Given the description of an element on the screen output the (x, y) to click on. 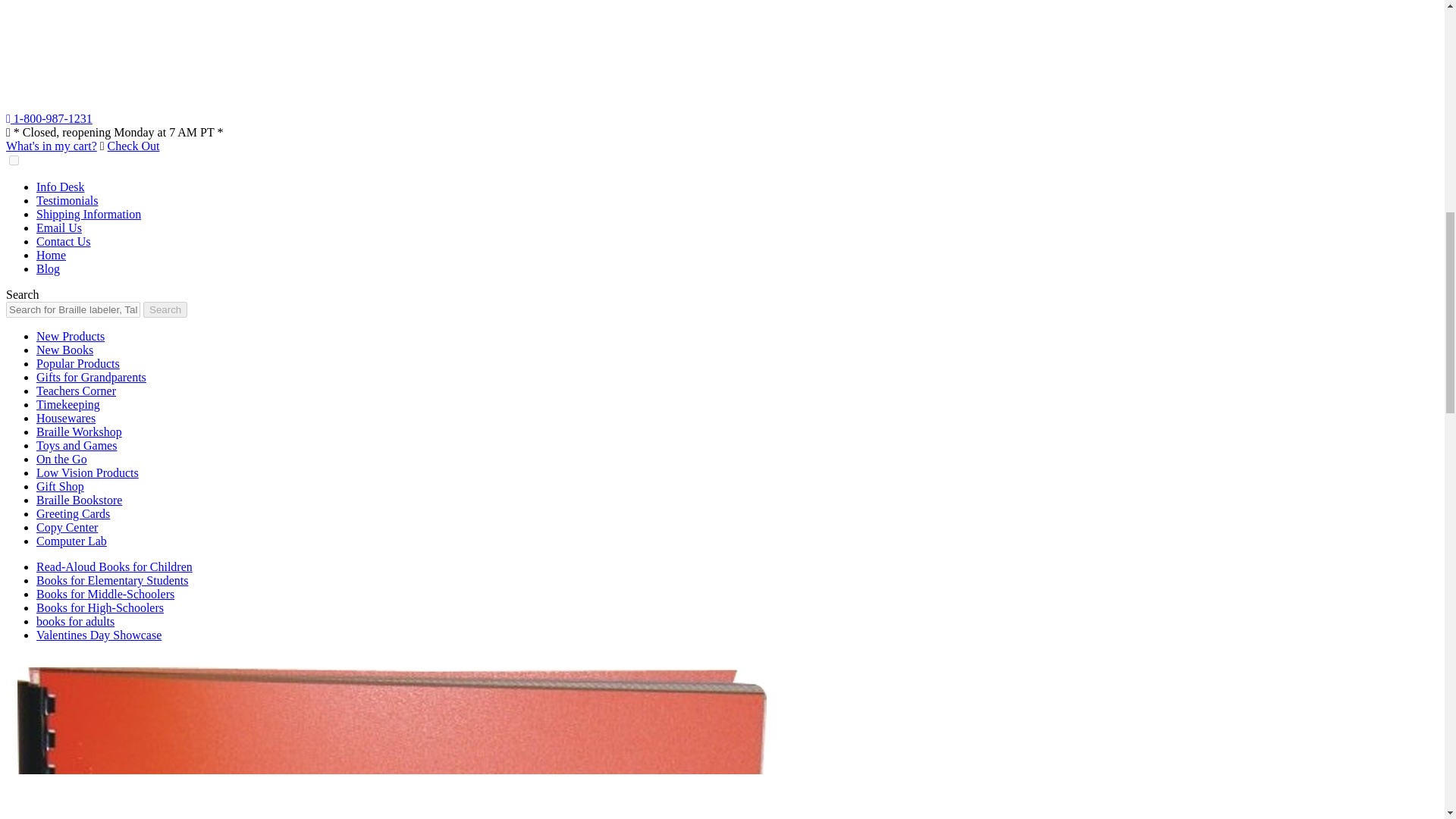
Computer Lab (71, 540)
1-800-987-1231 (49, 118)
Housewares (66, 418)
Books for High-Schoolers (99, 607)
Home (50, 254)
Toys and Games (76, 445)
New Books (64, 349)
Testimonials (67, 200)
books for adults (75, 621)
Info Desk (60, 186)
Low Vision Products (87, 472)
Gifts for Grandparents (91, 377)
Braille Bookstore (79, 499)
Gifts for Grandparents (91, 377)
On the Go (61, 459)
